Given the description of an element on the screen output the (x, y) to click on. 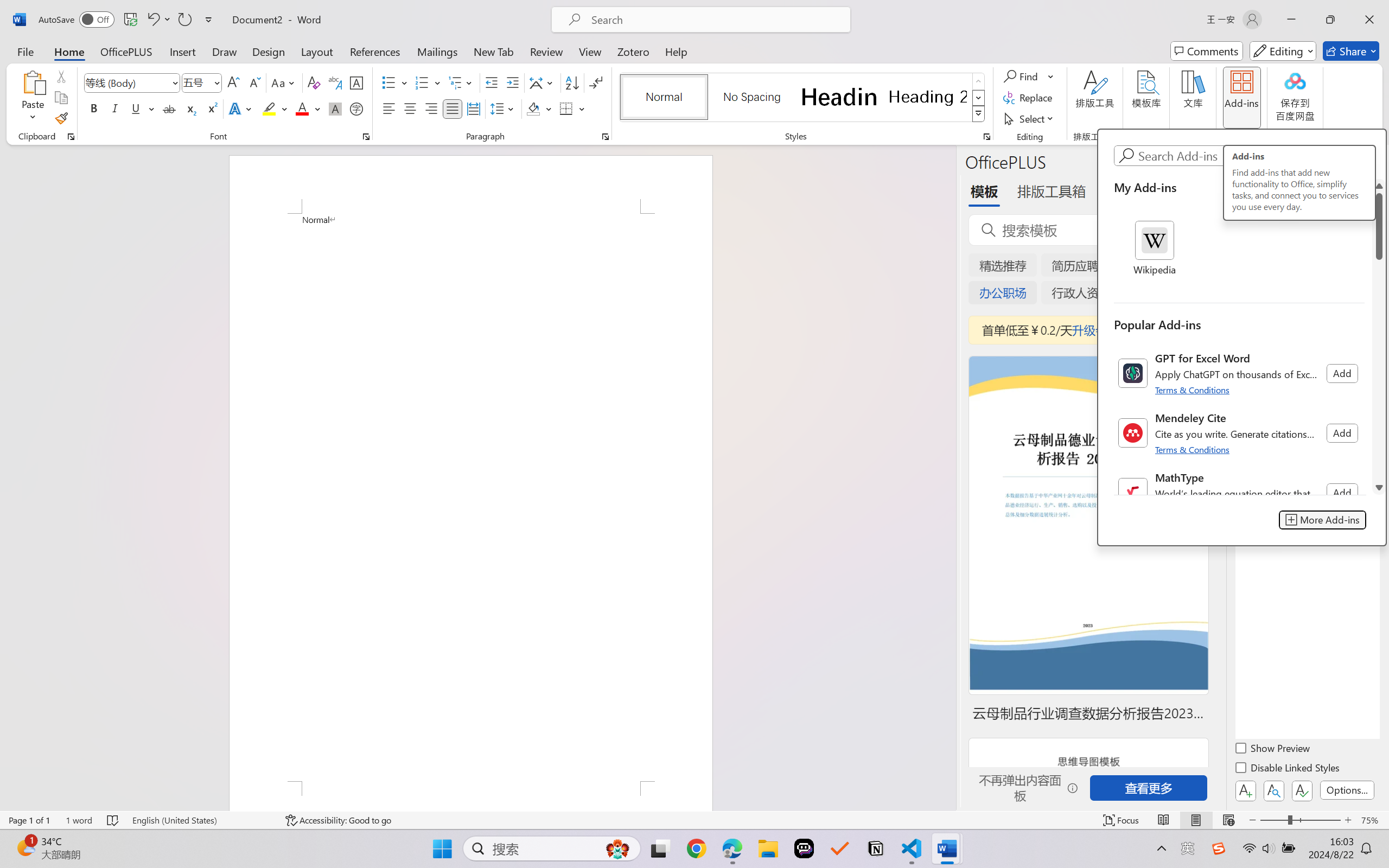
References (375, 51)
Mode (1283, 50)
Clear Formatting (313, 82)
Subscript (190, 108)
Sort... (571, 82)
Bullets (395, 82)
Cut (60, 75)
Change Case (284, 82)
Asian Layout (542, 82)
Copy (60, 97)
More Options (1051, 75)
Row up (978, 81)
